Given the description of an element on the screen output the (x, y) to click on. 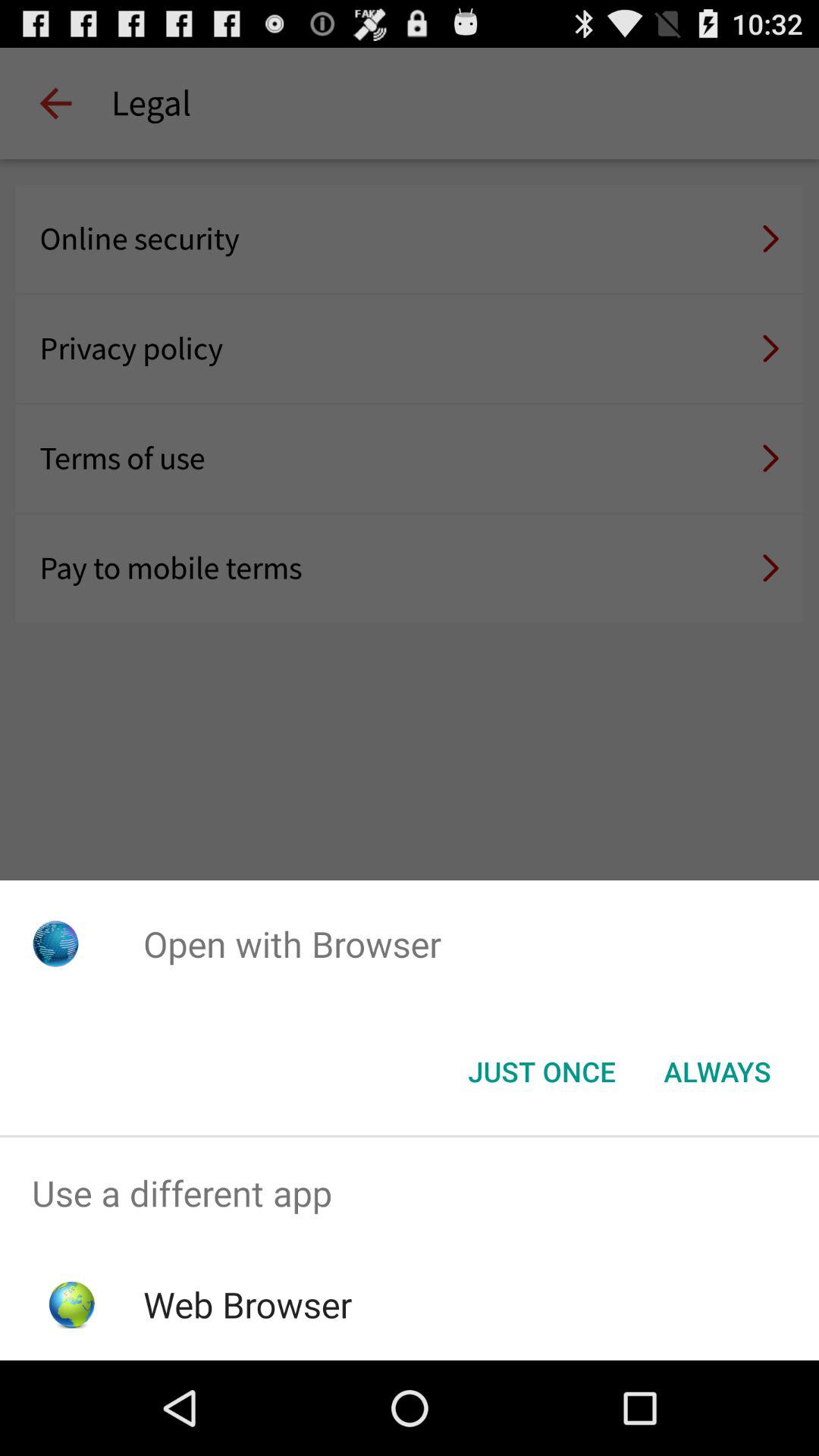
launch the item below the open with browser app (717, 1071)
